Given the description of an element on the screen output the (x, y) to click on. 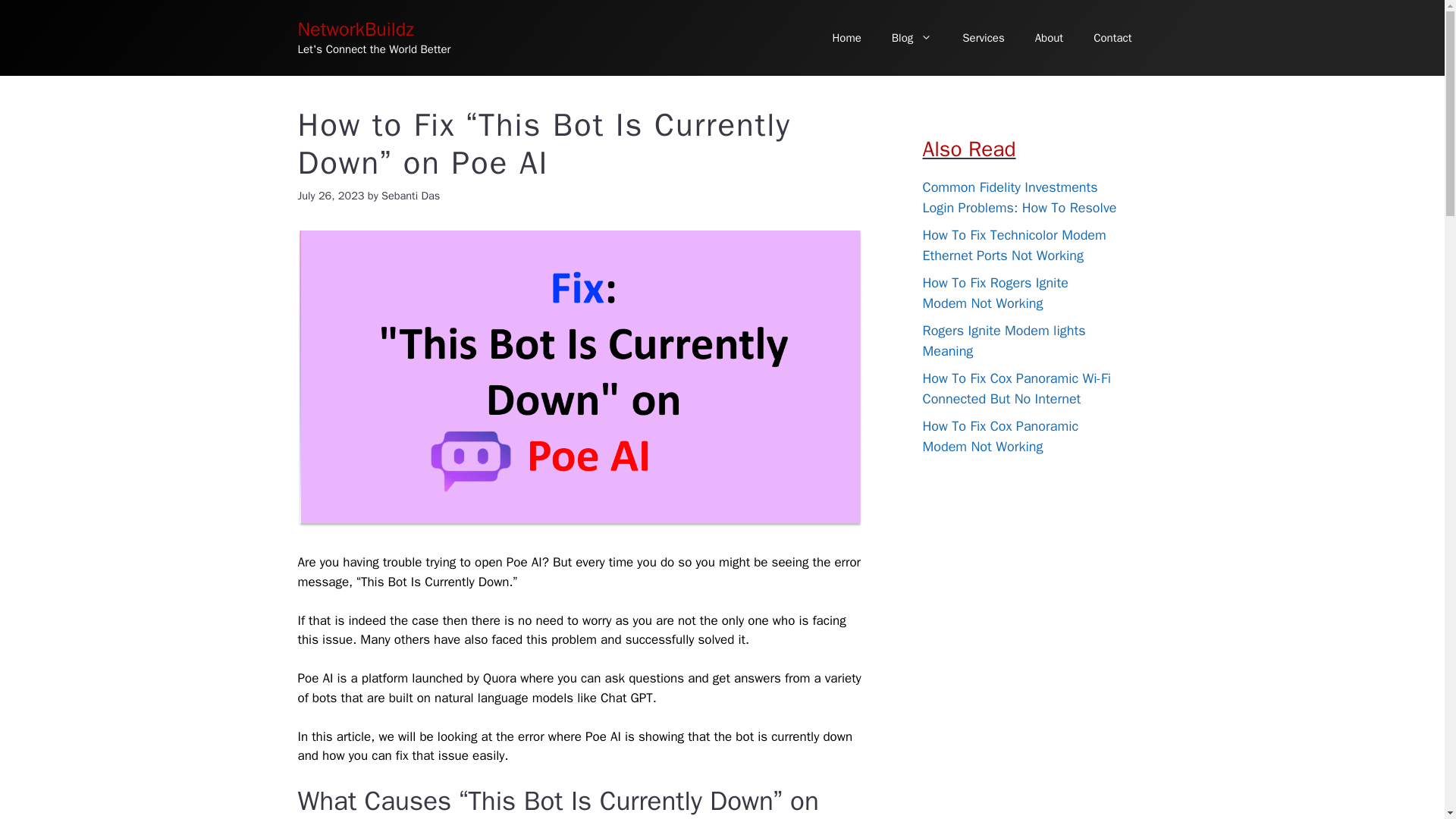
Contact (1112, 37)
NetworkBuildz (355, 28)
Blog (911, 37)
How To Fix Cox Panoramic Wi-Fi Connected But No Internet (1015, 388)
Services (983, 37)
How To Fix Technicolor Modem Ethernet Ports Not Working (1013, 244)
Sebanti Das (410, 195)
How To Fix Cox Panoramic Modem Not Working (999, 436)
About (1049, 37)
Rogers Ignite Modem lights Meaning (1002, 340)
